Given the description of an element on the screen output the (x, y) to click on. 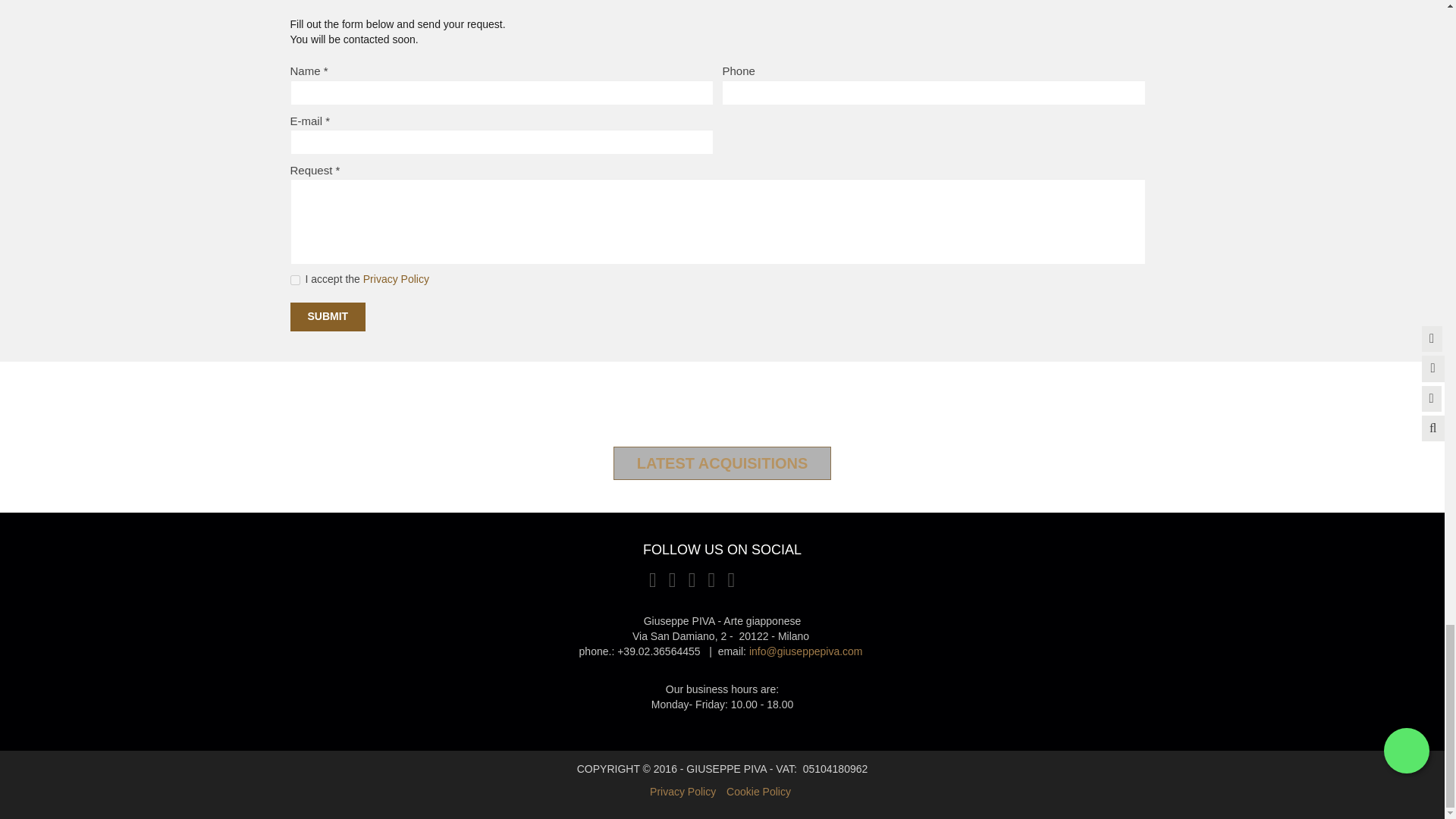
true (294, 280)
